Given the description of an element on the screen output the (x, y) to click on. 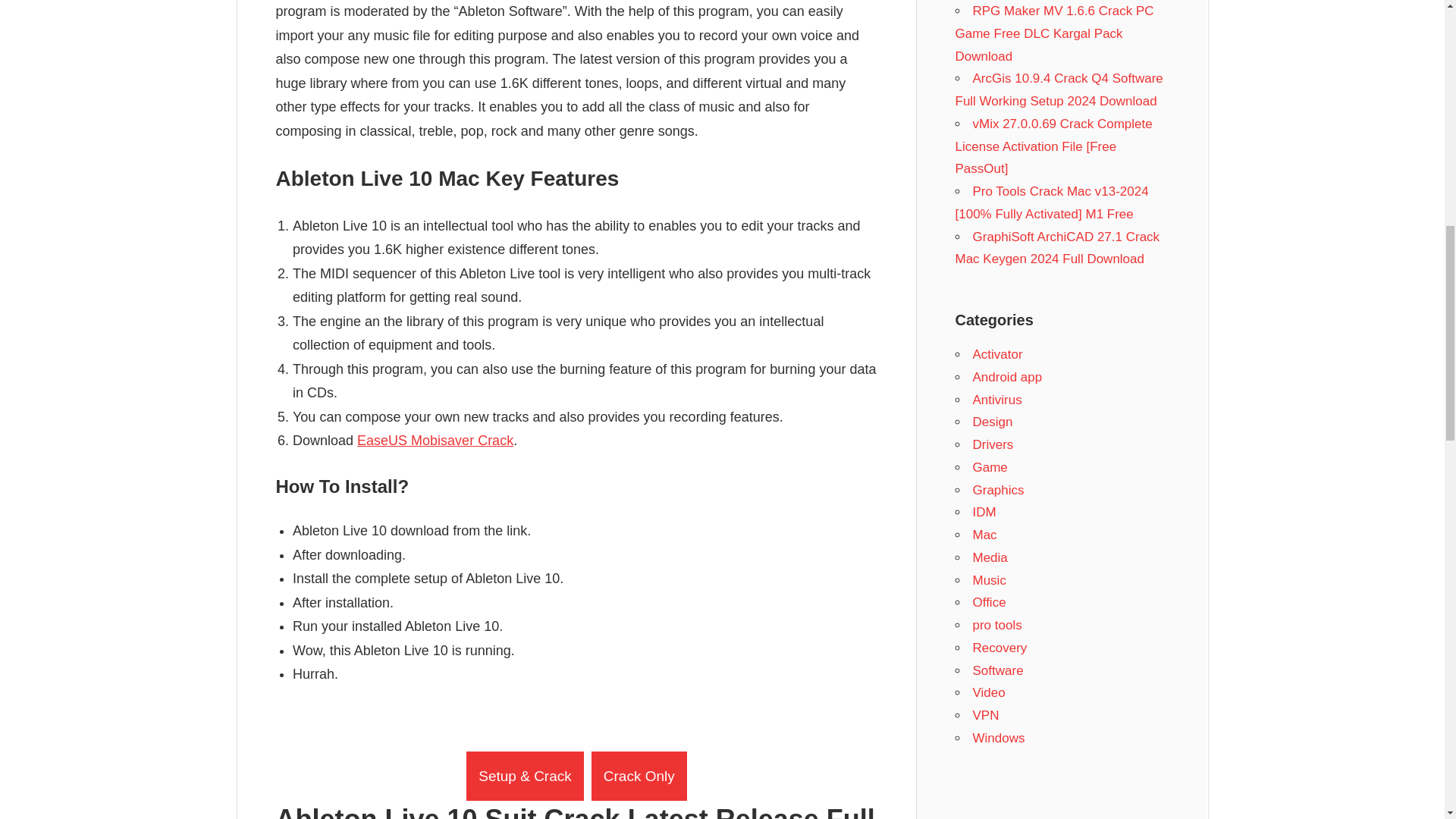
Crack Only (639, 775)
GraphiSoft ArchiCAD 27.1 Crack Mac Keygen 2024 Full Download (1057, 248)
EaseUS Mobisaver Crack (434, 440)
